Given the description of an element on the screen output the (x, y) to click on. 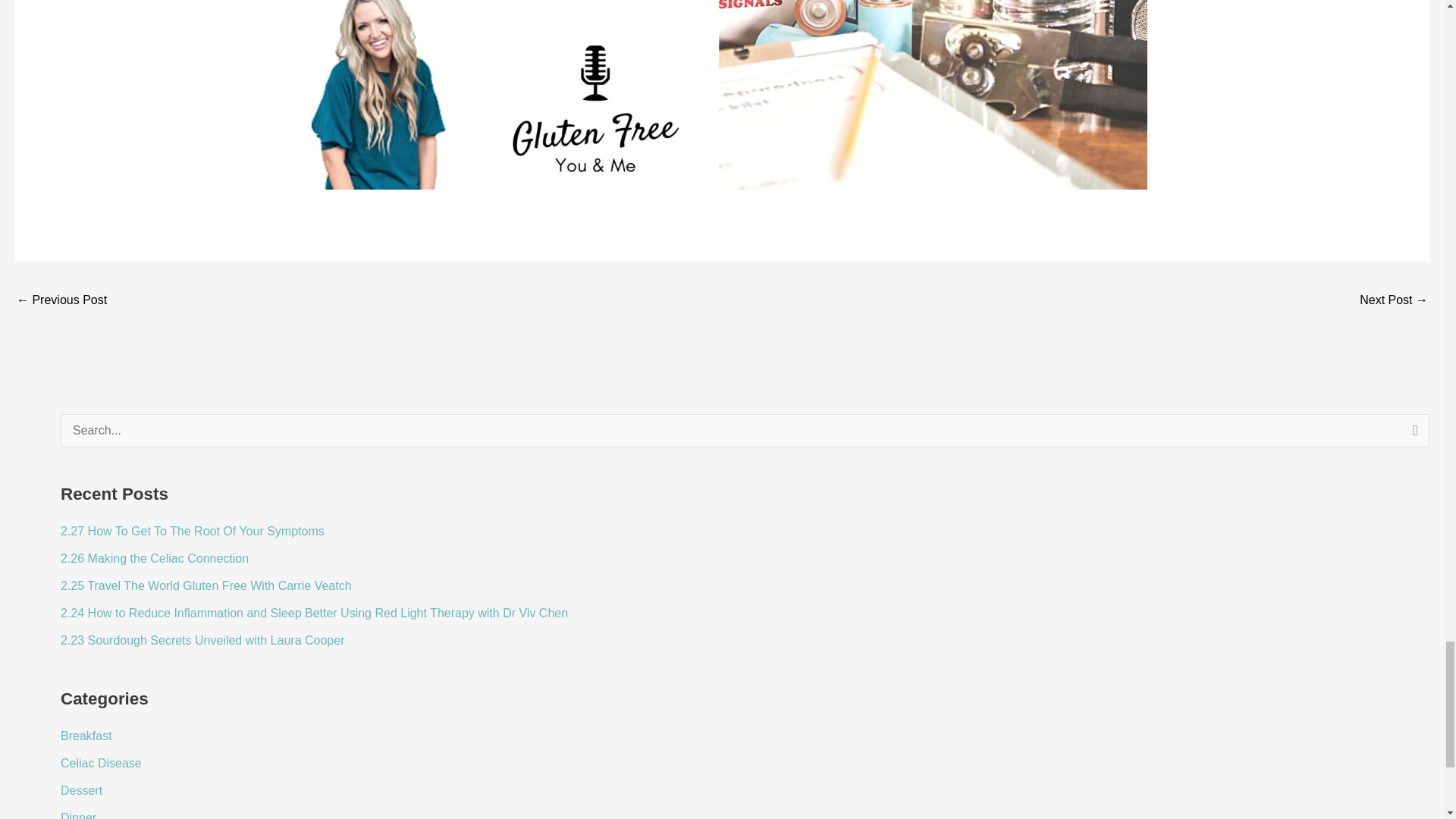
2.25 Travel The World Gluten Free With Carrie Veatch (206, 585)
Episode 42: Celiacs Unite! (1393, 301)
Episode 40: Learn To Be A Natural In the Kitchen (61, 301)
2.26 Making the Celiac Connection (154, 558)
2.23 Sourdough Secrets Unveiled with Laura Cooper (202, 640)
2.27 How To Get To The Root Of Your Symptoms (192, 530)
